Given the description of an element on the screen output the (x, y) to click on. 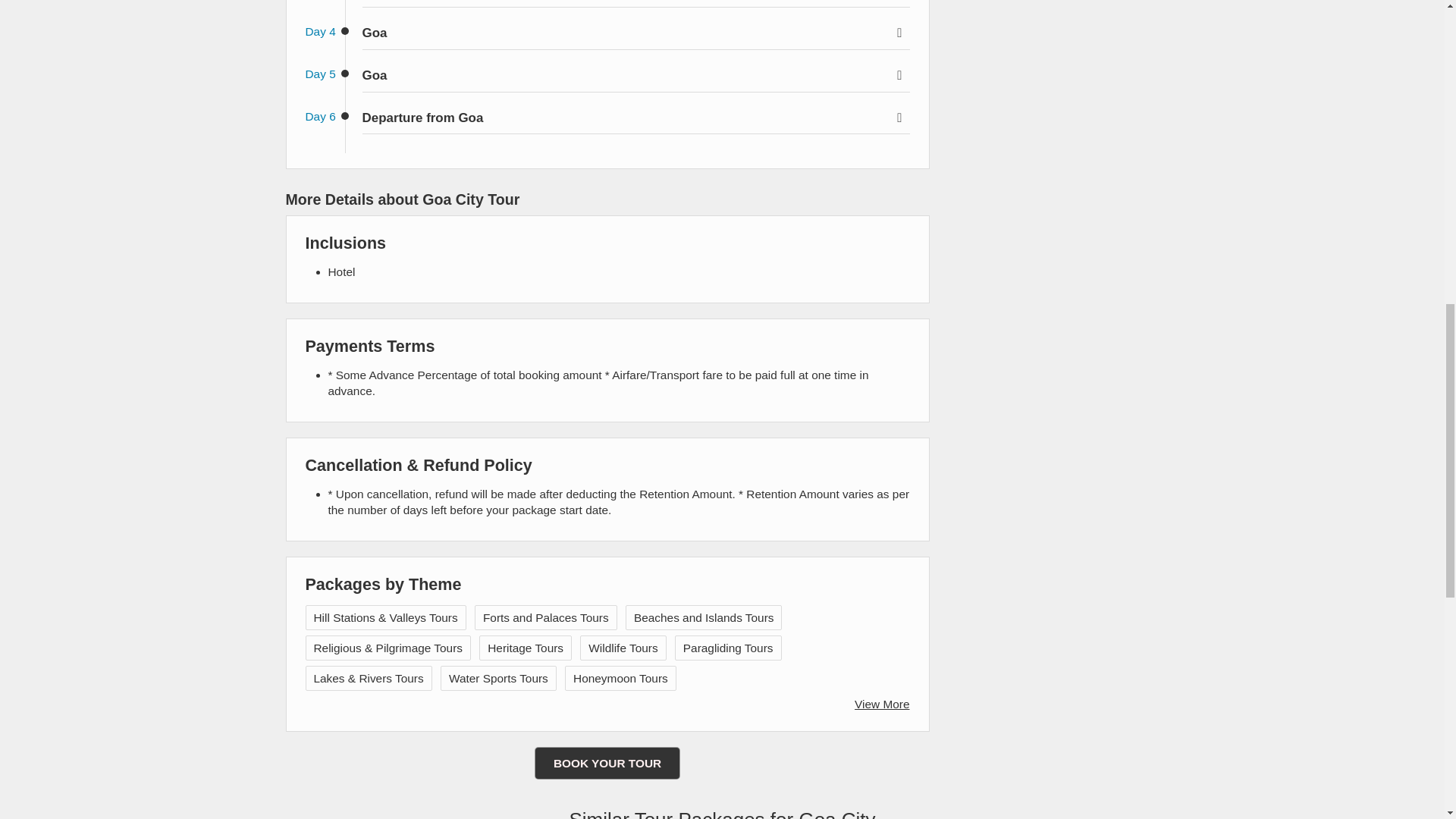
Beaches and Islands Tours (703, 617)
Heritage Tours (525, 647)
Departure from Goa (636, 117)
Forts and Palaces Tours (545, 617)
Goa (636, 75)
Goa (636, 33)
